Given the description of an element on the screen output the (x, y) to click on. 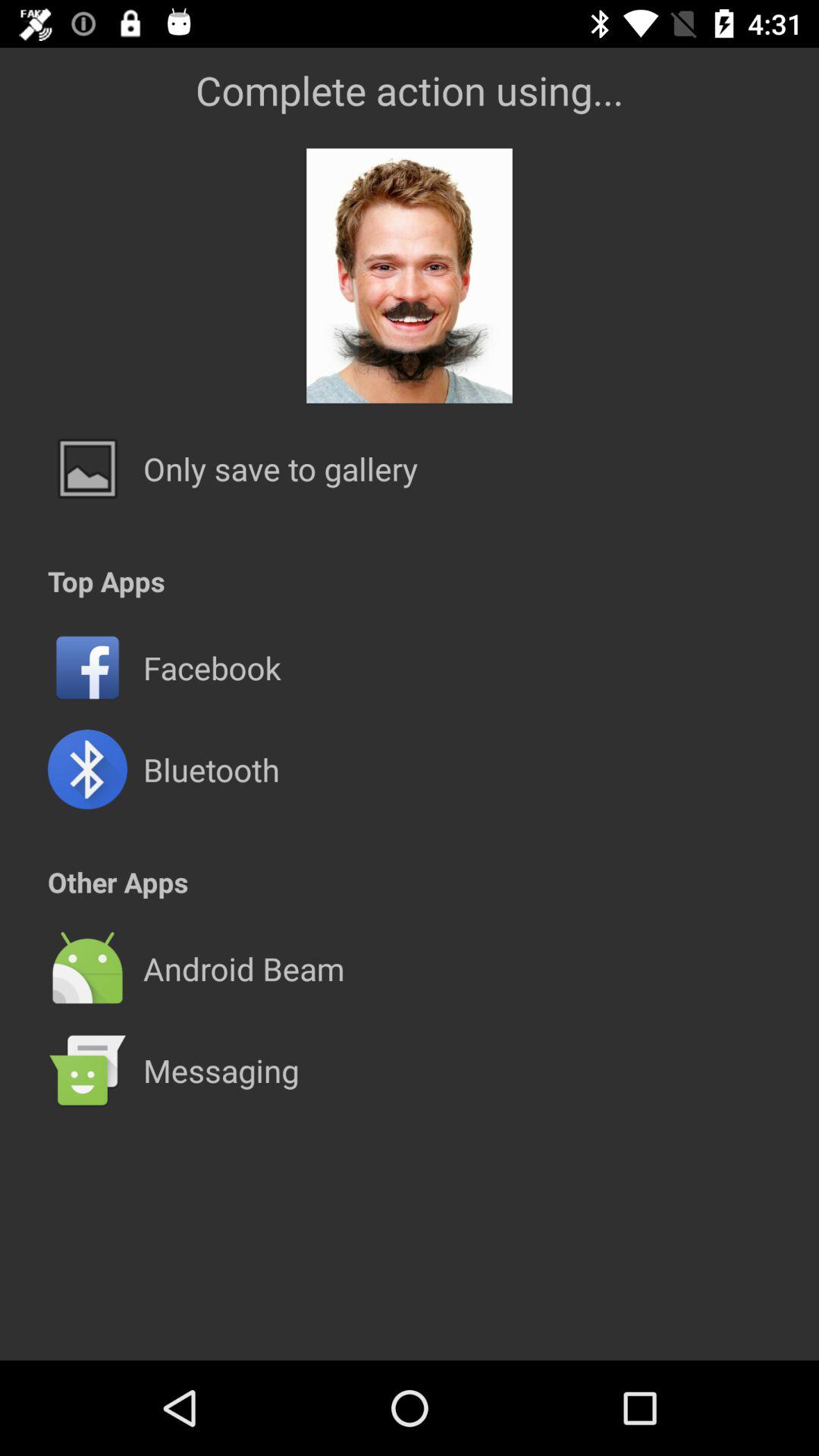
open the other apps (117, 881)
